Given the description of an element on the screen output the (x, y) to click on. 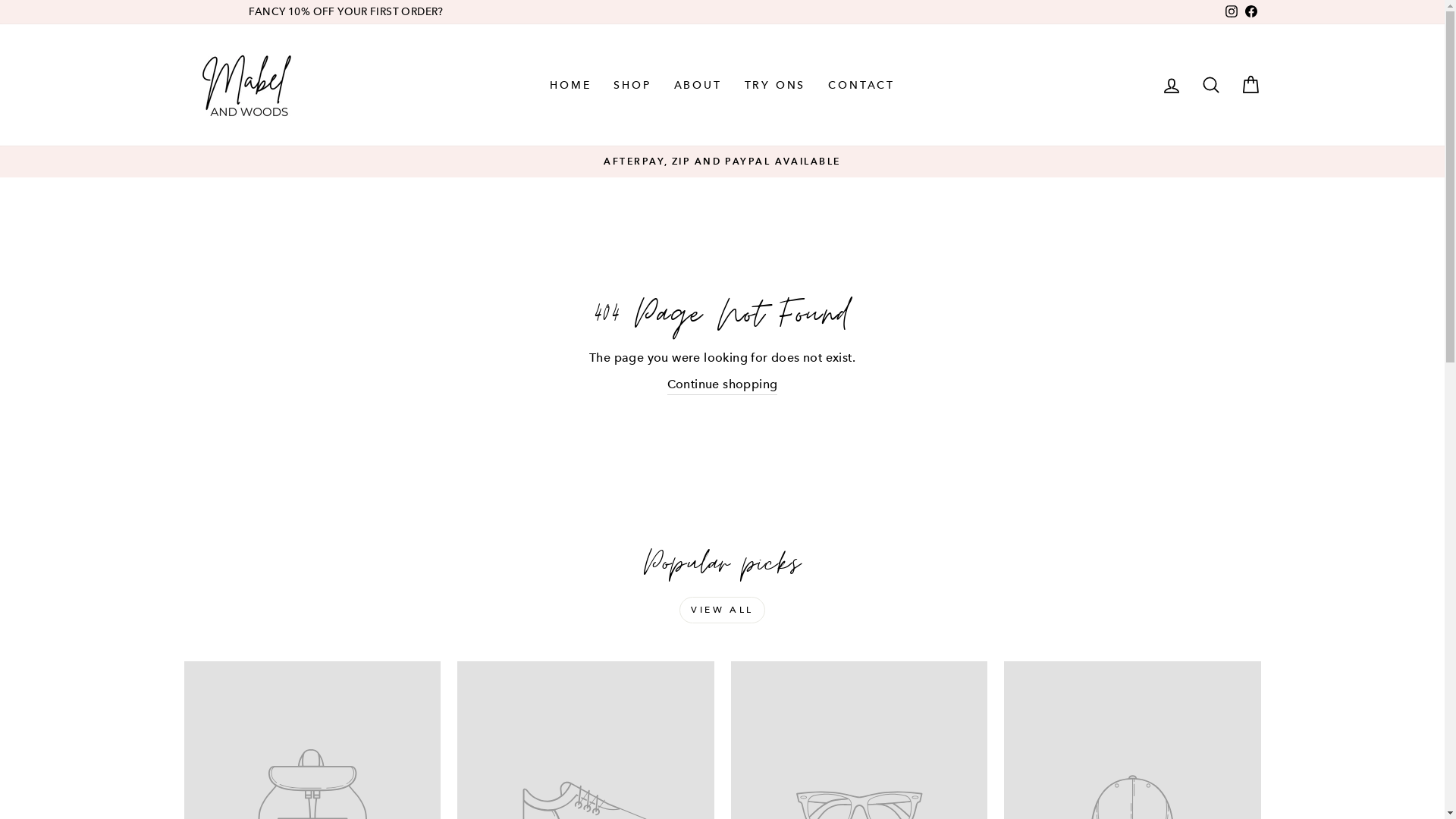
Facebook Element type: text (1250, 12)
SHOP Element type: text (632, 84)
Instagram Element type: text (1230, 12)
TRY ONS Element type: text (775, 84)
HOME Element type: text (570, 84)
CART Element type: text (1249, 84)
SEARCH Element type: text (1210, 84)
ABOUT Element type: text (697, 84)
LOG IN Element type: text (1170, 84)
VIEW ALL Element type: text (722, 609)
CONTACT Element type: text (861, 84)
Continue shopping Element type: text (722, 384)
